Given the description of an element on the screen output the (x, y) to click on. 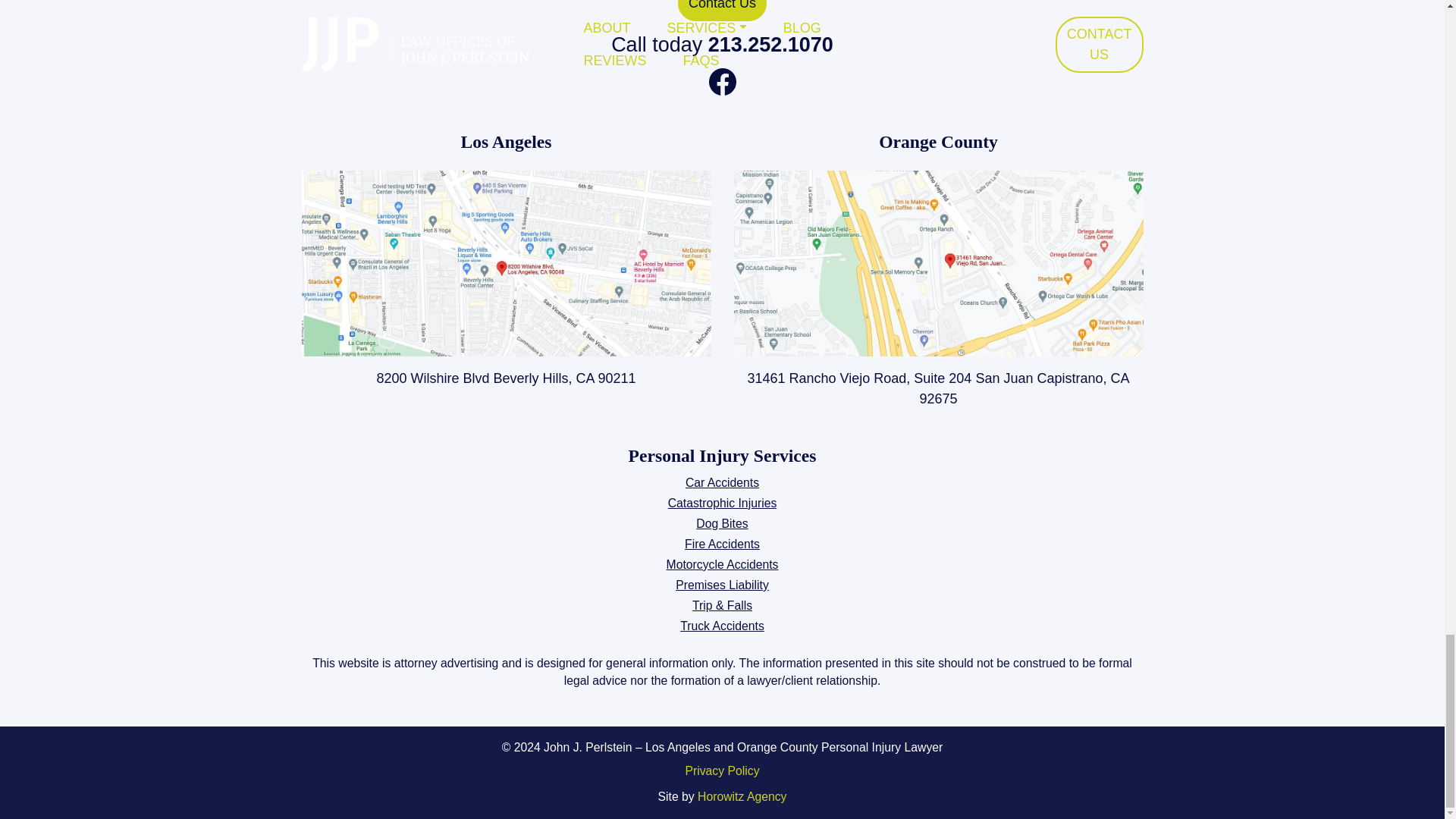
Dog Bites (721, 522)
Catastrophic Injuries (722, 502)
Fire Accidents (722, 543)
Car Accidents (721, 482)
213.252.1070 (769, 44)
Follow us on Facebook (721, 80)
Contact Us (722, 10)
